Given the description of an element on the screen output the (x, y) to click on. 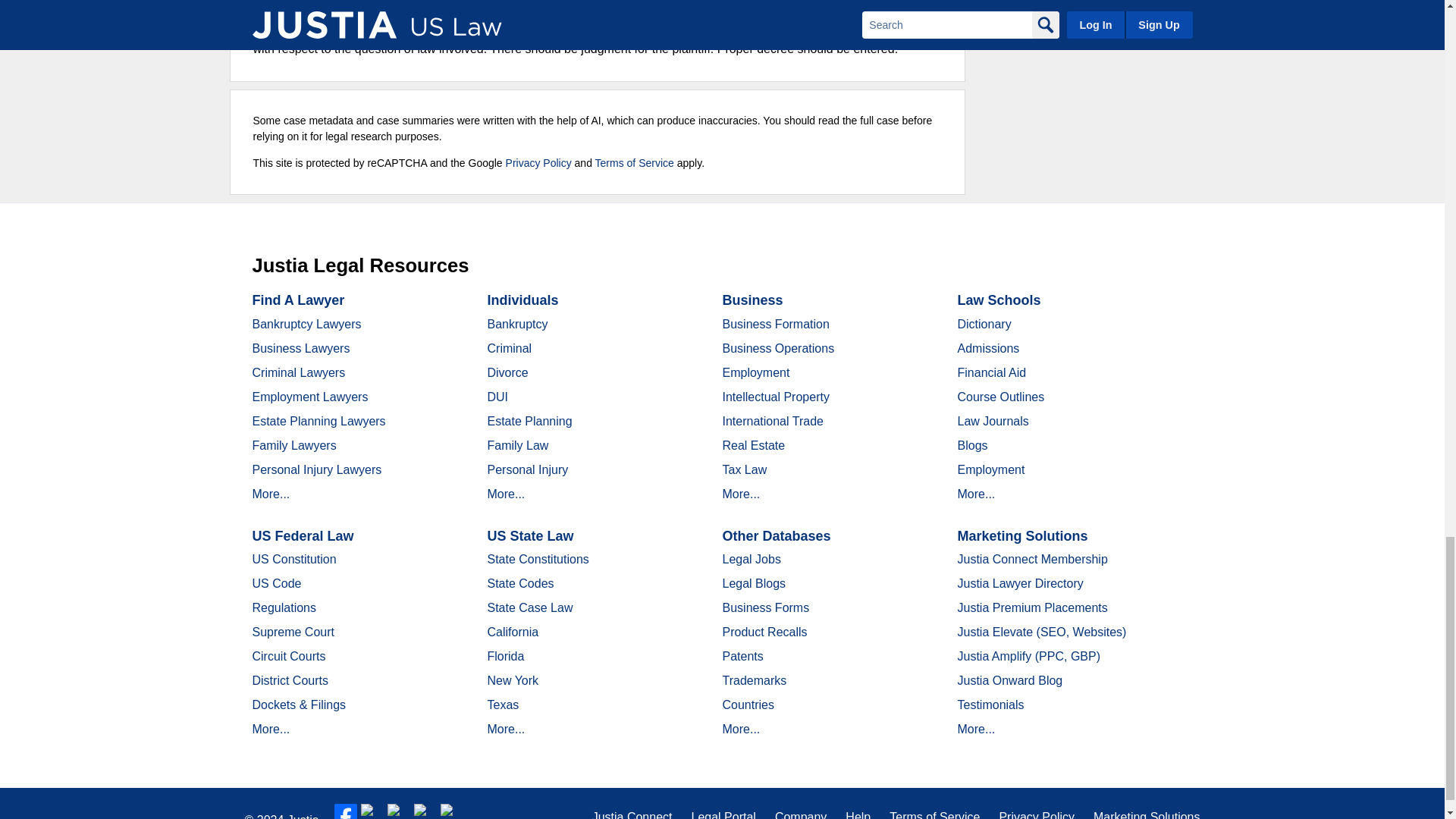
Twitter (372, 811)
LinkedIn (398, 811)
Terms of Service (634, 162)
Facebook (345, 811)
Privacy Policy (538, 162)
